Given the description of an element on the screen output the (x, y) to click on. 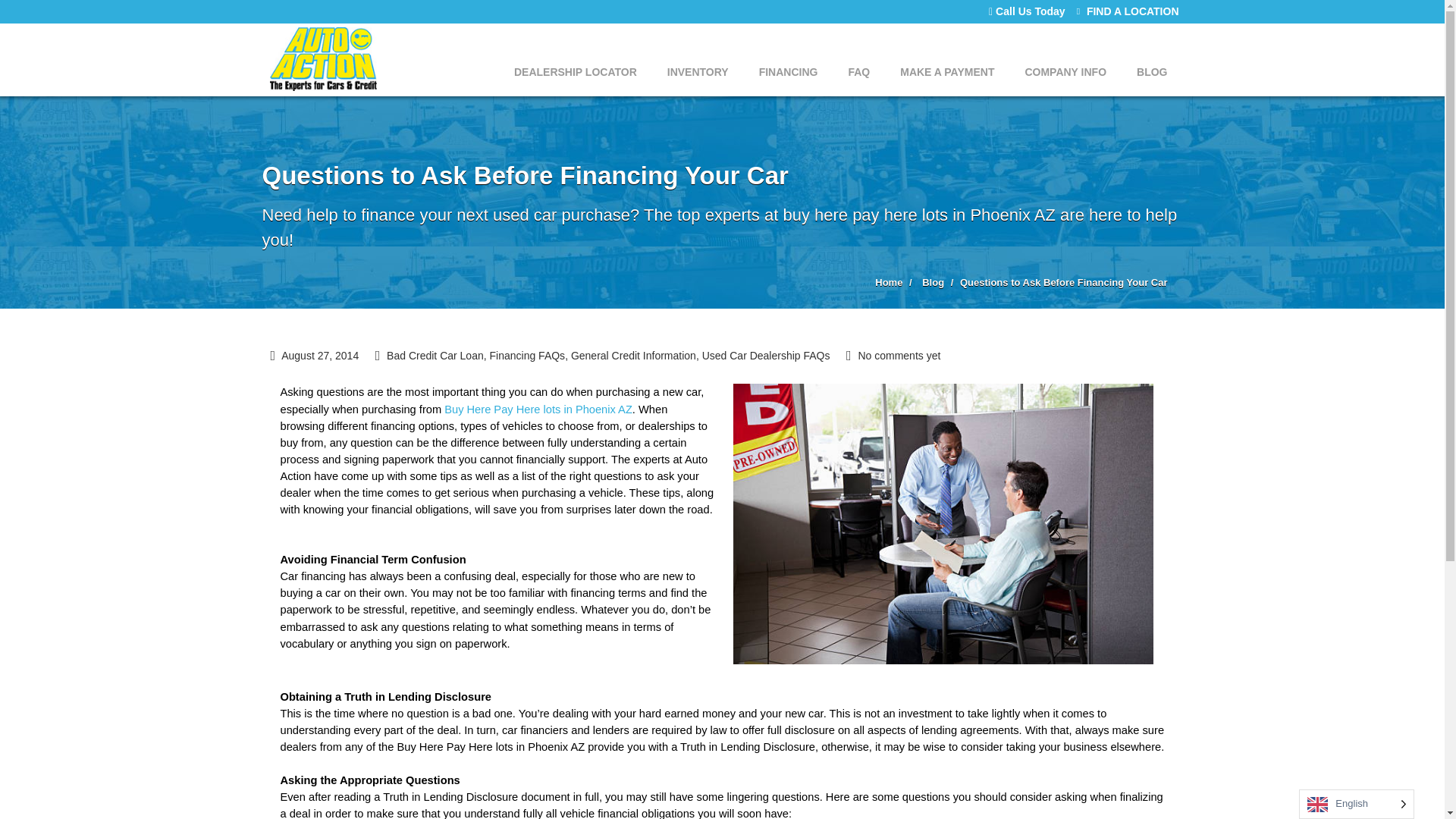
Home (888, 282)
Blog (932, 282)
Bad Credit Car Loan (435, 355)
General Credit Information (632, 355)
DEALERSHIP LOCATOR (575, 59)
Used Car Dealership FAQs (765, 355)
FINANCING (788, 59)
MAKE A PAYMENT (947, 59)
Financing FAQs (527, 355)
Buy Here Pay Here lots in Phoenix AZ (537, 409)
INVENTORY (698, 59)
COMPANY INFO (1065, 59)
